Given the description of an element on the screen output the (x, y) to click on. 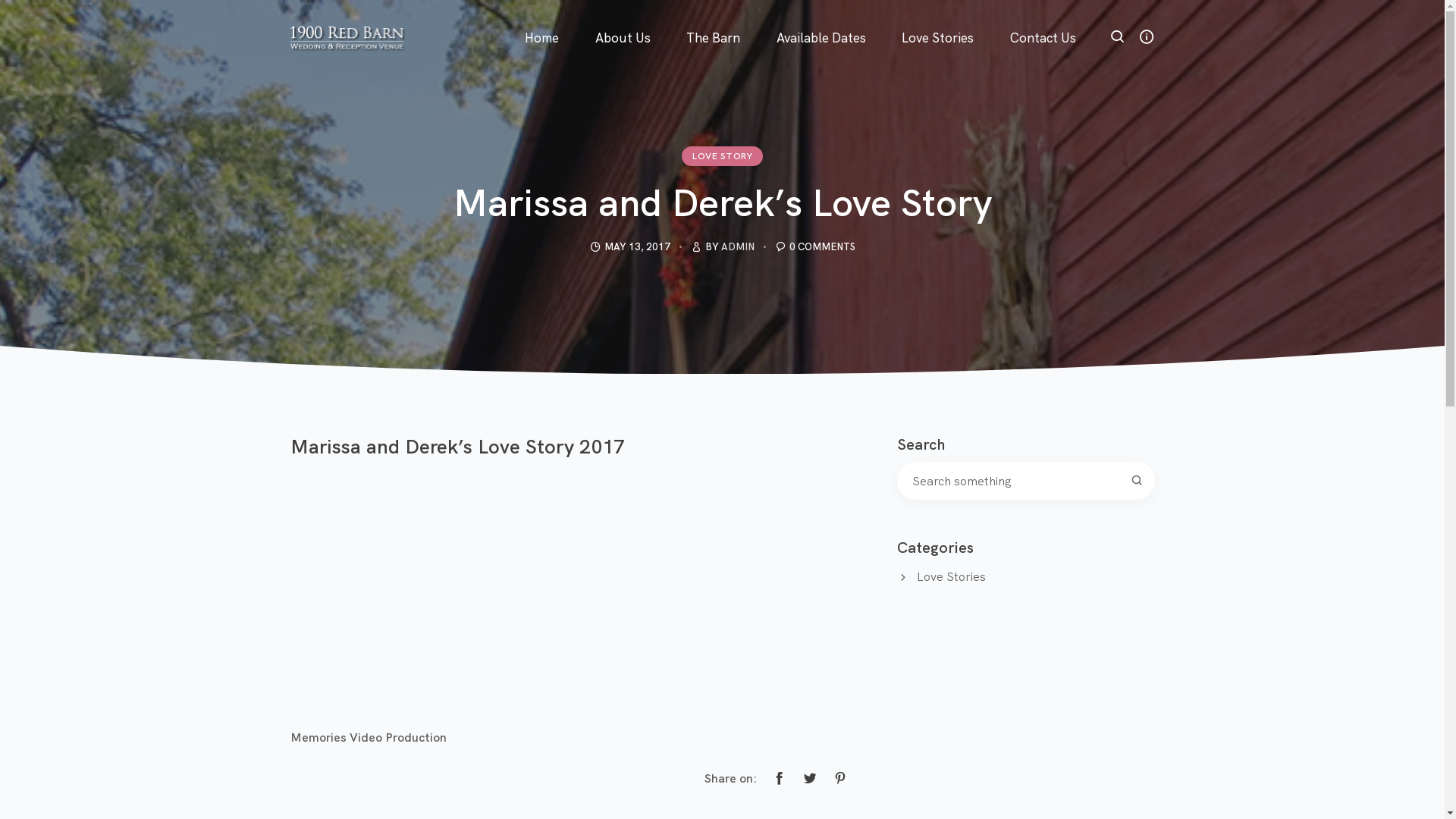
Love Stories Element type: text (950, 575)
YouTube video player Element type: hover (501, 585)
Contact Us Element type: text (1042, 18)
Home Element type: text (541, 18)
Available Dates Element type: text (821, 18)
The Barn Element type: text (713, 18)
ADMIN Element type: text (736, 246)
Love Stories Element type: text (938, 18)
LOVE STORY Element type: text (721, 156)
About Us Element type: text (622, 18)
